Given the description of an element on the screen output the (x, y) to click on. 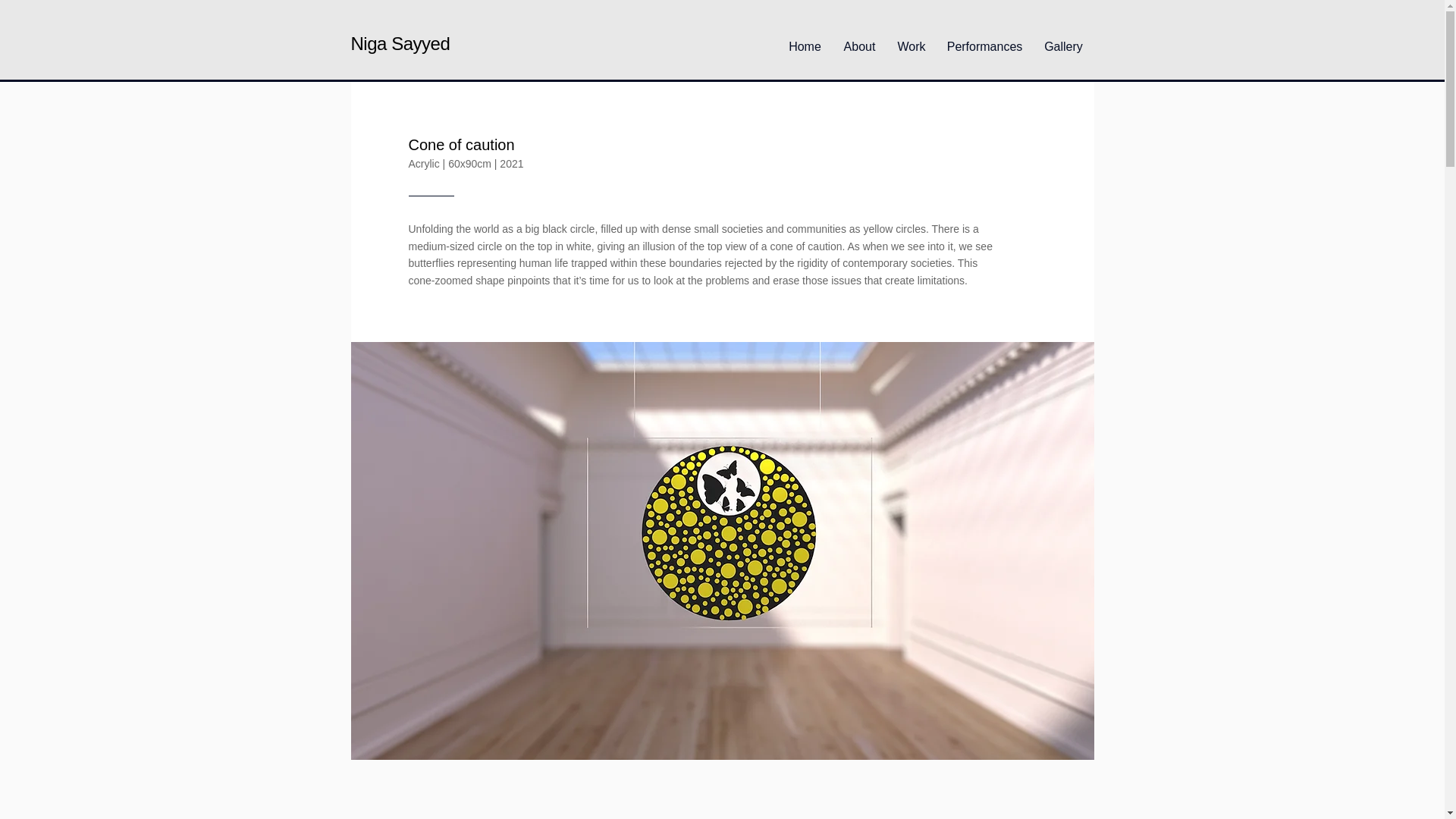
Gallery (1062, 39)
Niga Sayyed (399, 43)
Home (804, 39)
About (859, 39)
Work (911, 39)
Performances (984, 39)
